Given the description of an element on the screen output the (x, y) to click on. 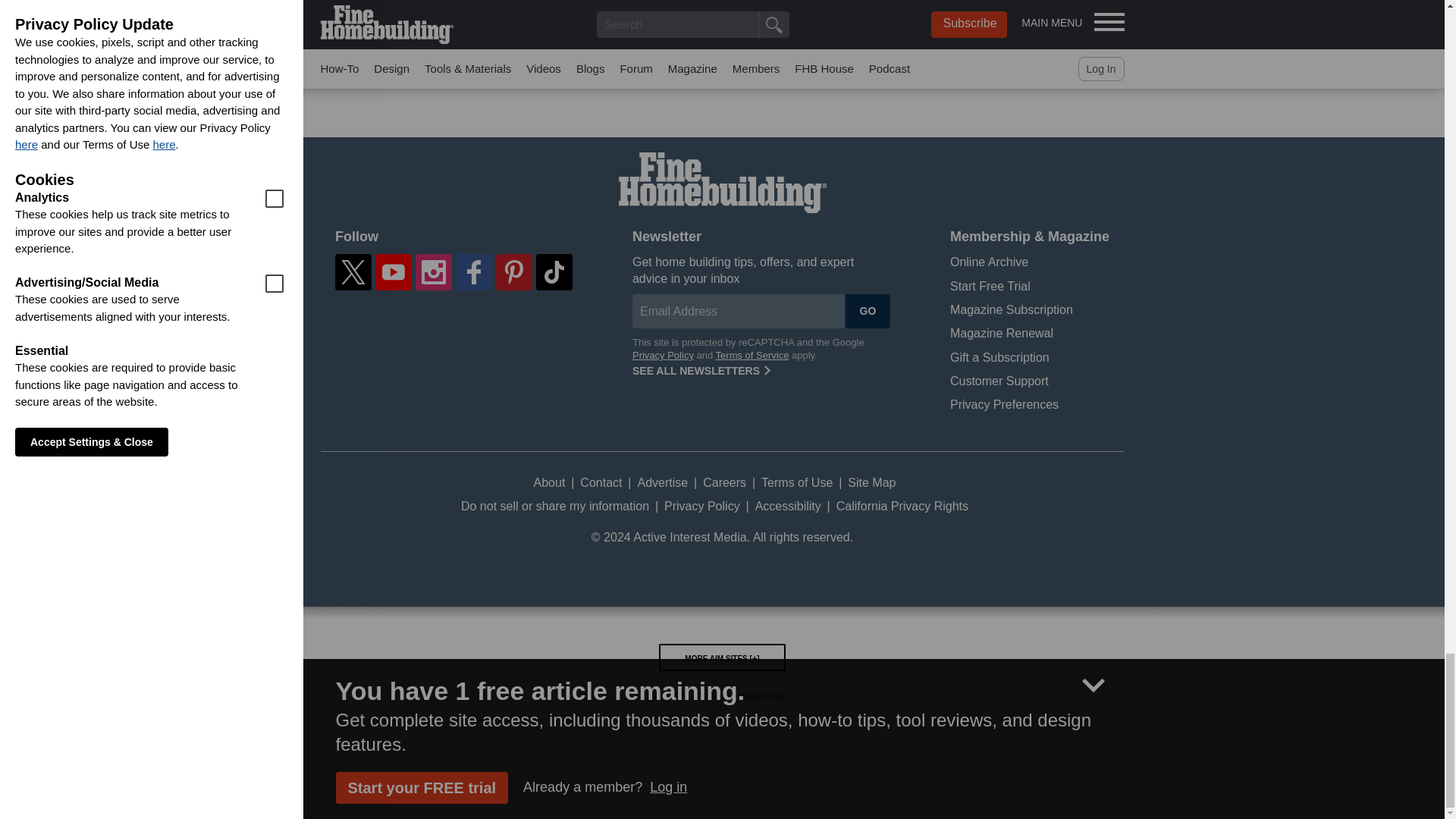
3rd party ad content (721, 72)
